Given the description of an element on the screen output the (x, y) to click on. 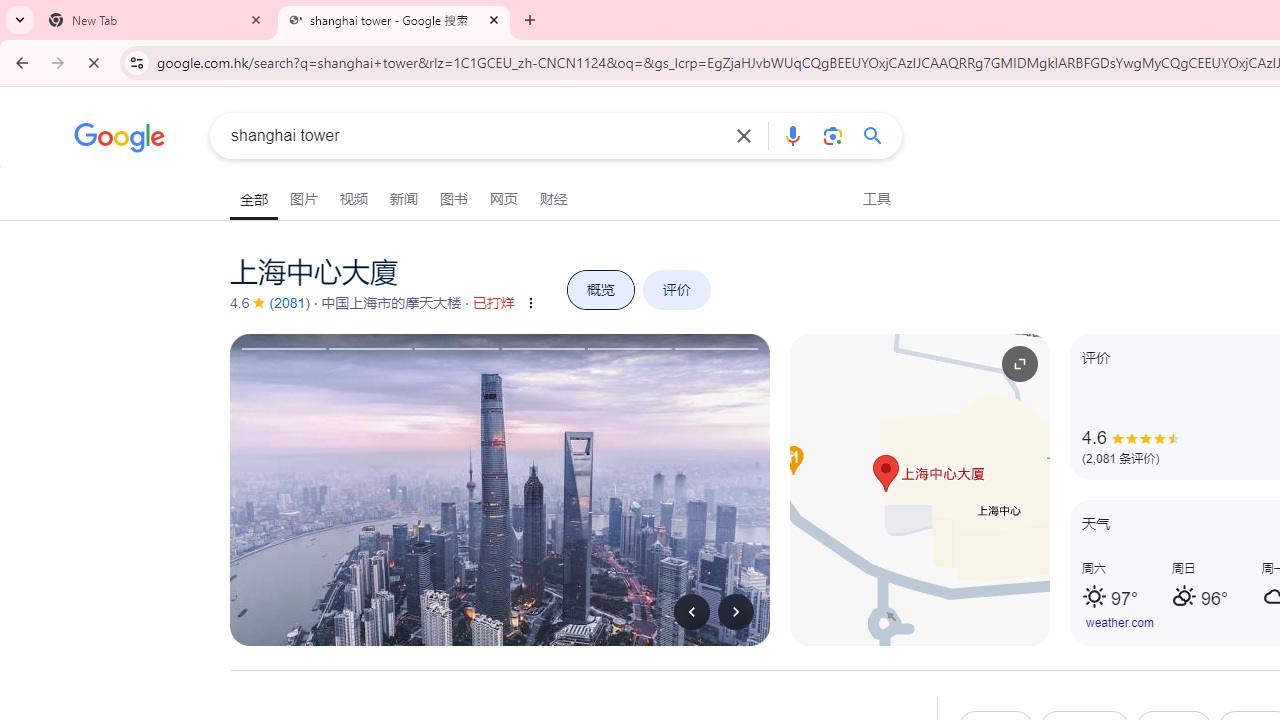
weather.com (1119, 623)
